Given the description of an element on the screen output the (x, y) to click on. 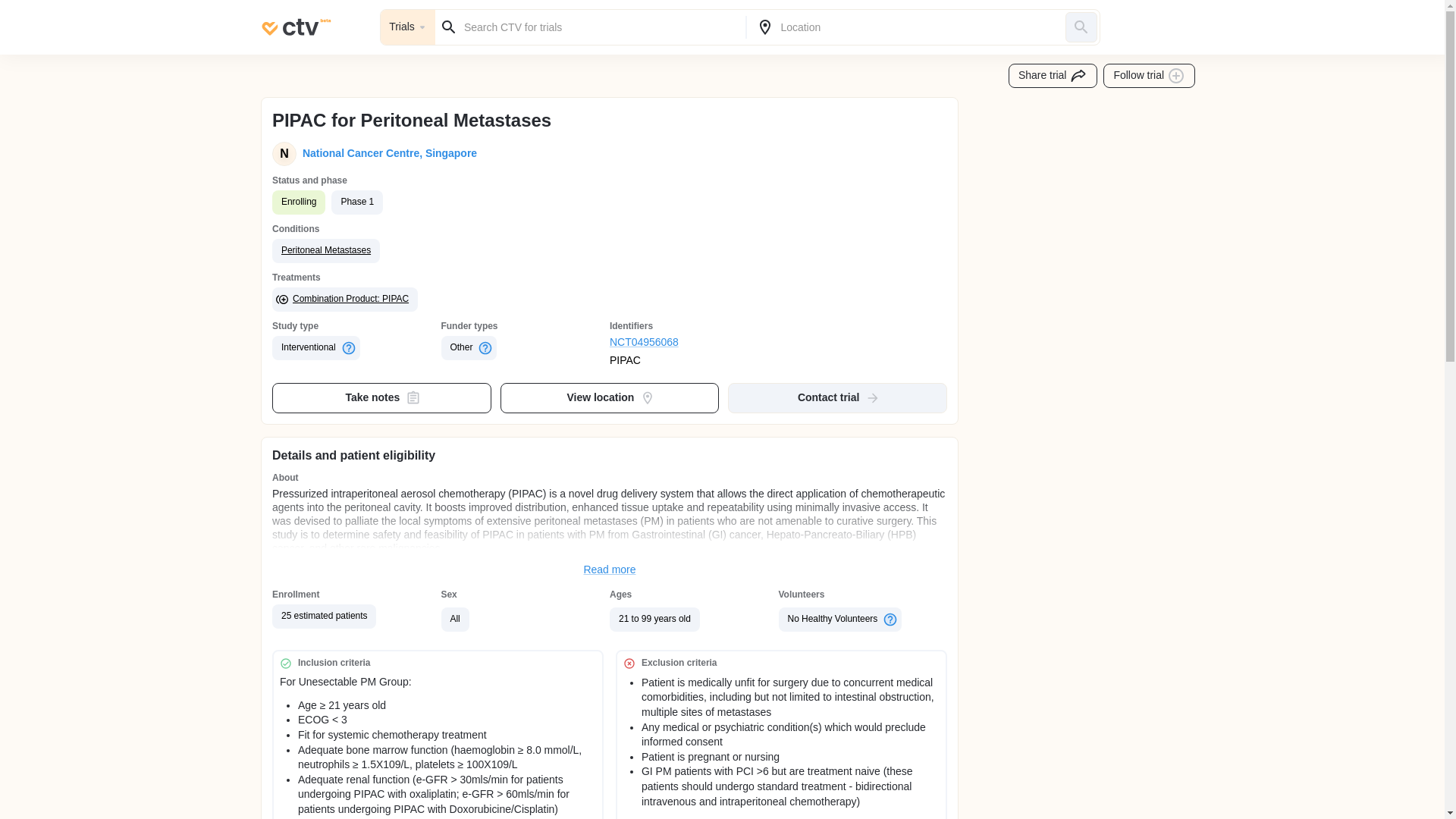
Read more (609, 570)
NCT04956068 (694, 342)
Follow trial (1149, 75)
Trials (407, 27)
Take notes (382, 398)
View location (609, 398)
Contact trial (837, 398)
National Cancer Centre, Singapore (387, 153)
Share trial (1053, 75)
